Given the description of an element on the screen output the (x, y) to click on. 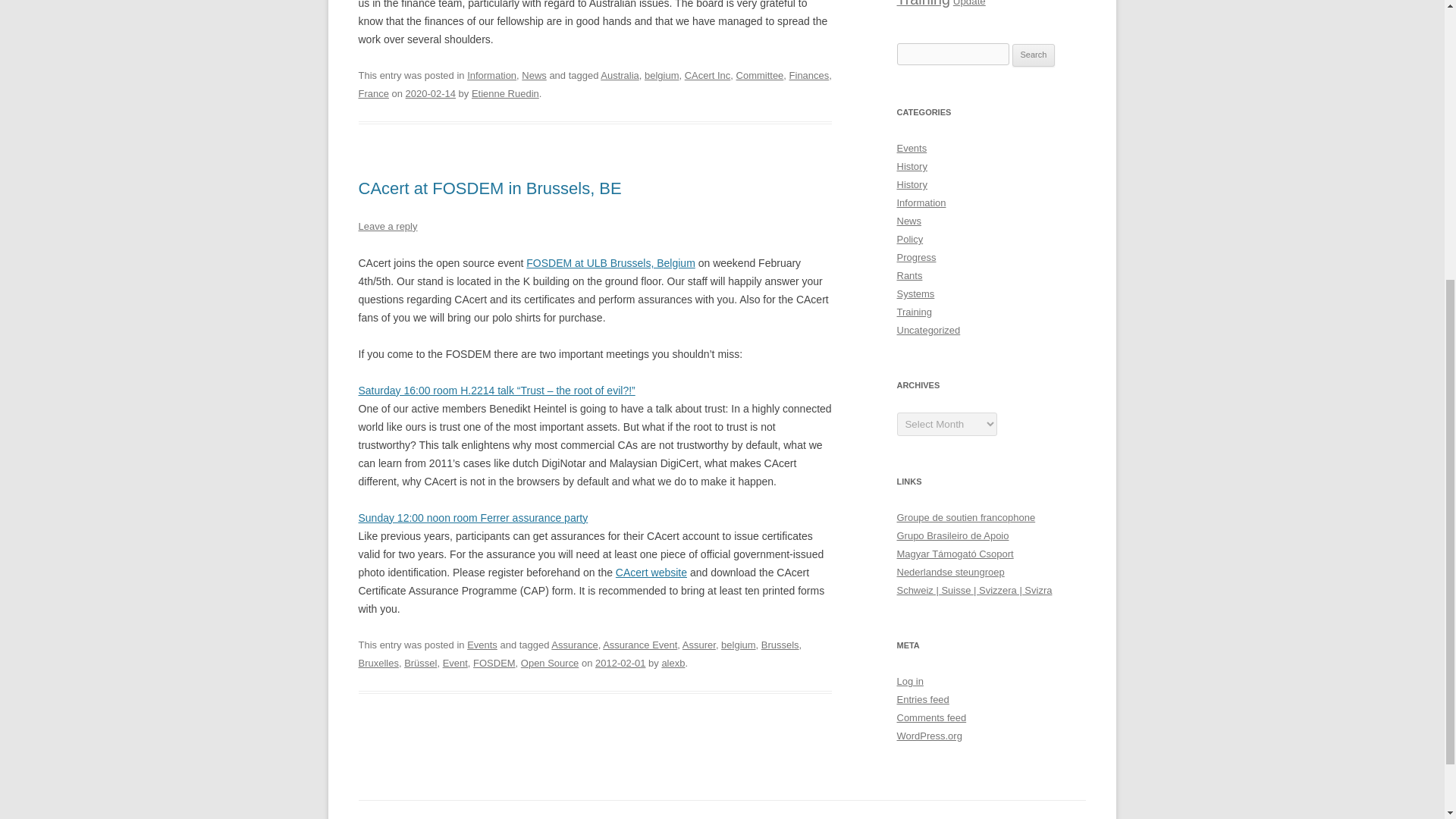
belgium (661, 75)
Assurance Event (639, 644)
Finances (809, 75)
Leave a reply (387, 225)
Etienne Ruedin (504, 93)
2012-02-01 (620, 663)
Assurance (573, 644)
Australia (619, 75)
FOSDEM at ULB Brussels, Belgium (610, 263)
CAcert website (651, 572)
